Given the description of an element on the screen output the (x, y) to click on. 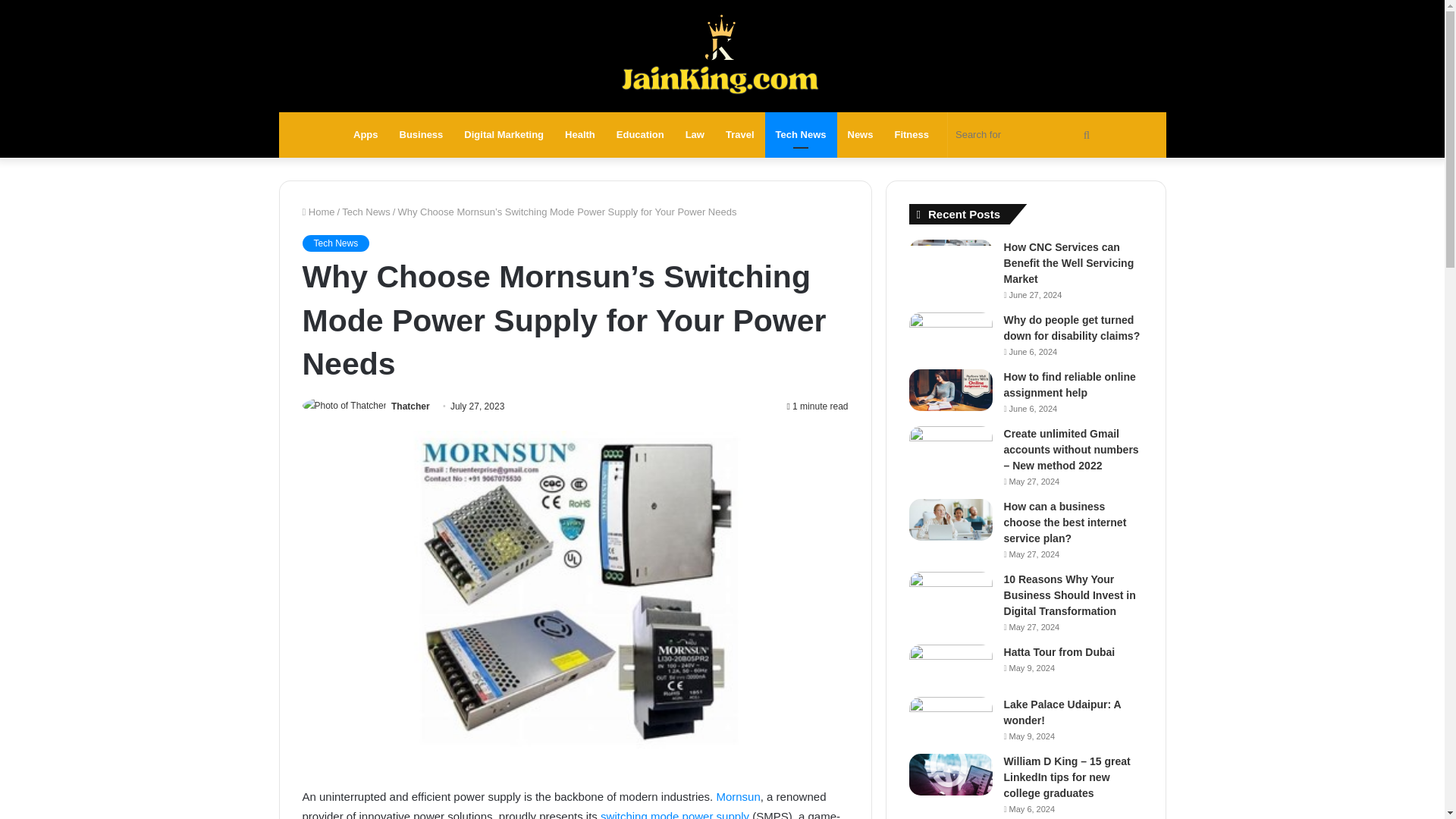
Tech News (335, 243)
Home (317, 211)
Apps (365, 135)
Health (579, 135)
switching mode power supply (674, 814)
Business (421, 135)
Digital Marketing (503, 135)
Fitness (911, 135)
Tech News (366, 211)
Thatcher (410, 406)
Search for (1024, 135)
Mornsun (738, 796)
Travel (739, 135)
Education (640, 135)
Tech News (801, 135)
